Given the description of an element on the screen output the (x, y) to click on. 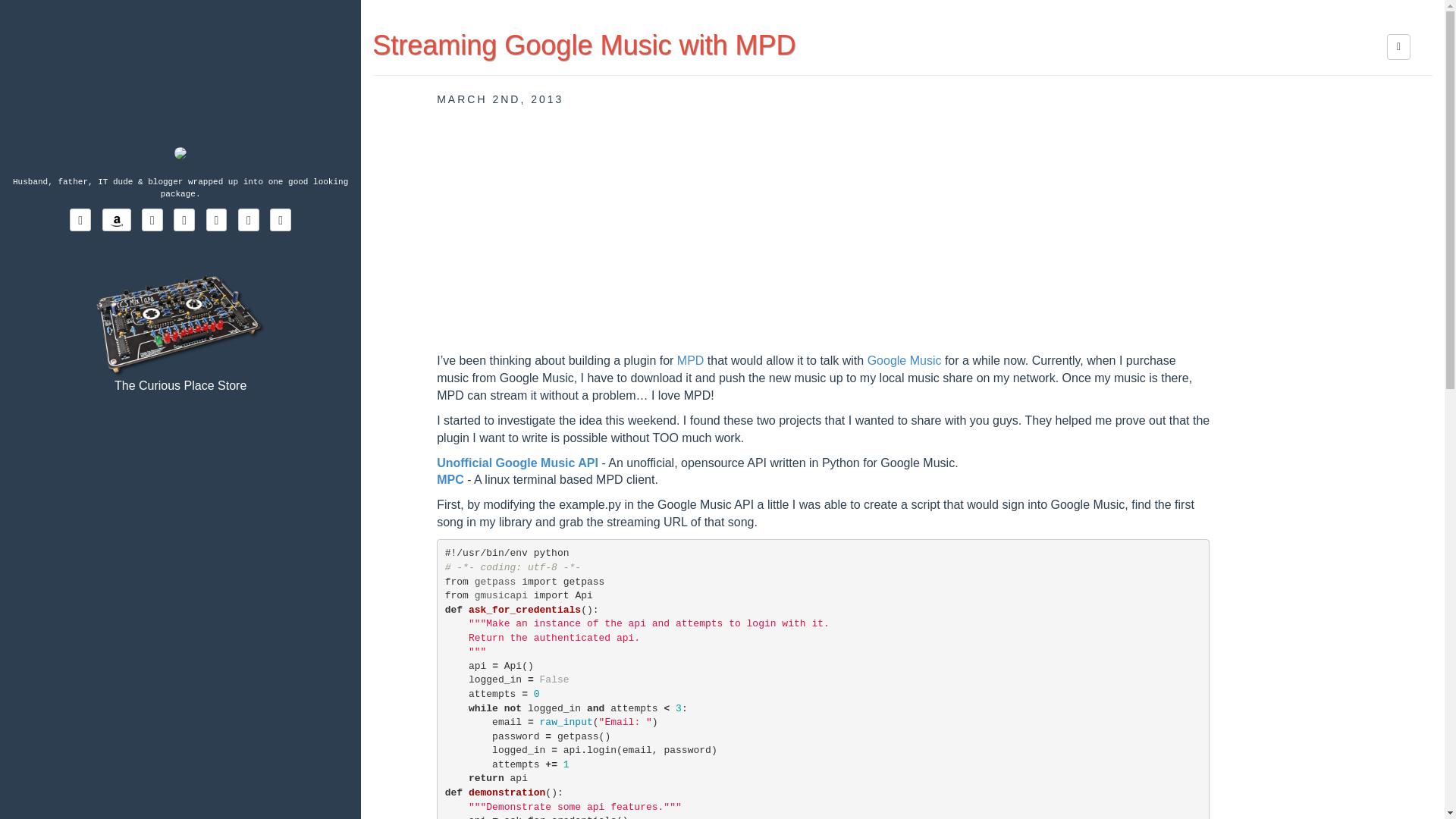
MPD (690, 359)
Google Music (904, 359)
Unofficial Google Music API (517, 462)
MPC (450, 479)
Unofficial Google Music API (517, 462)
